Given the description of an element on the screen output the (x, y) to click on. 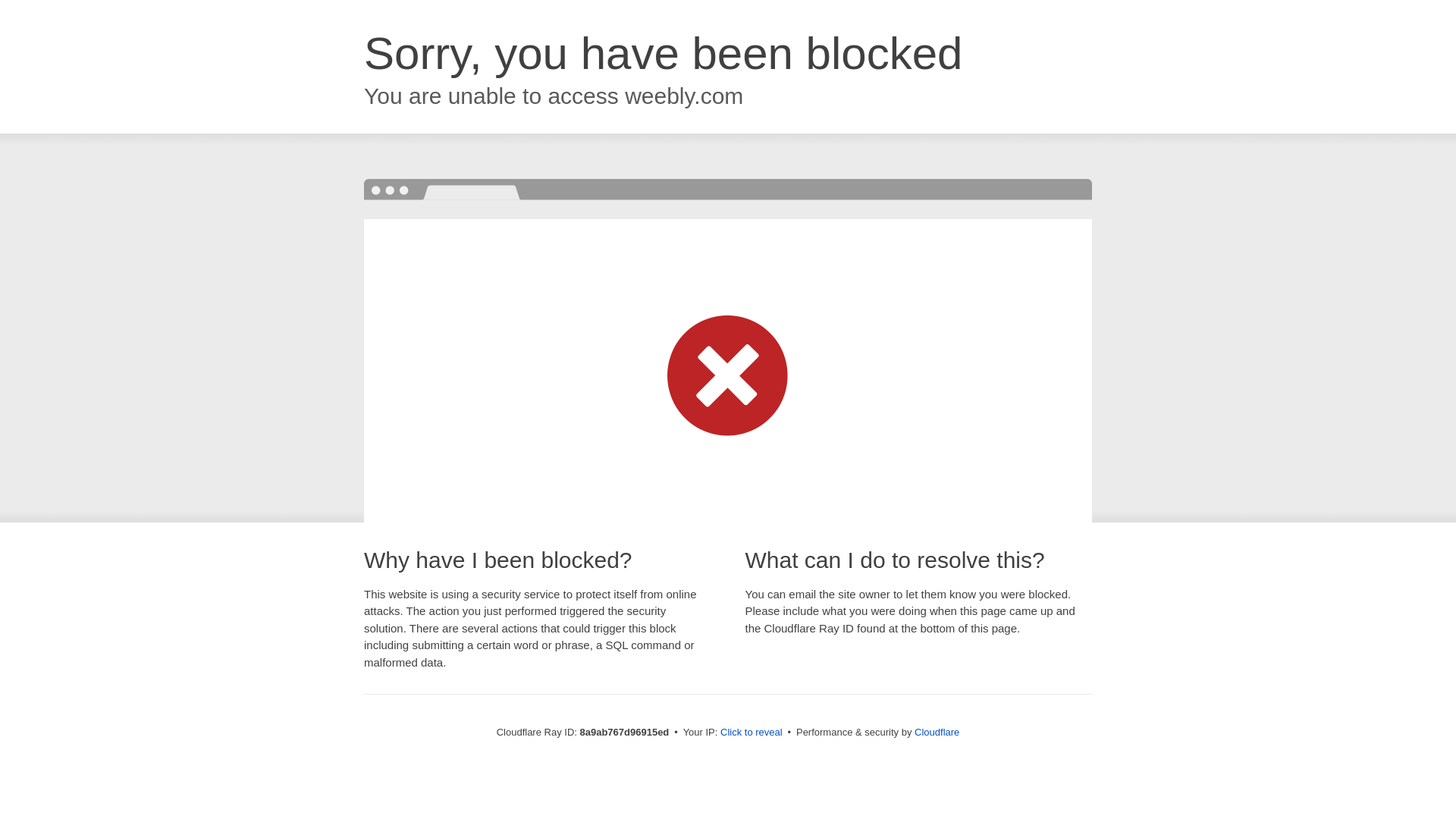
Cloudflare (936, 731)
Click to reveal (751, 732)
